Given the description of an element on the screen output the (x, y) to click on. 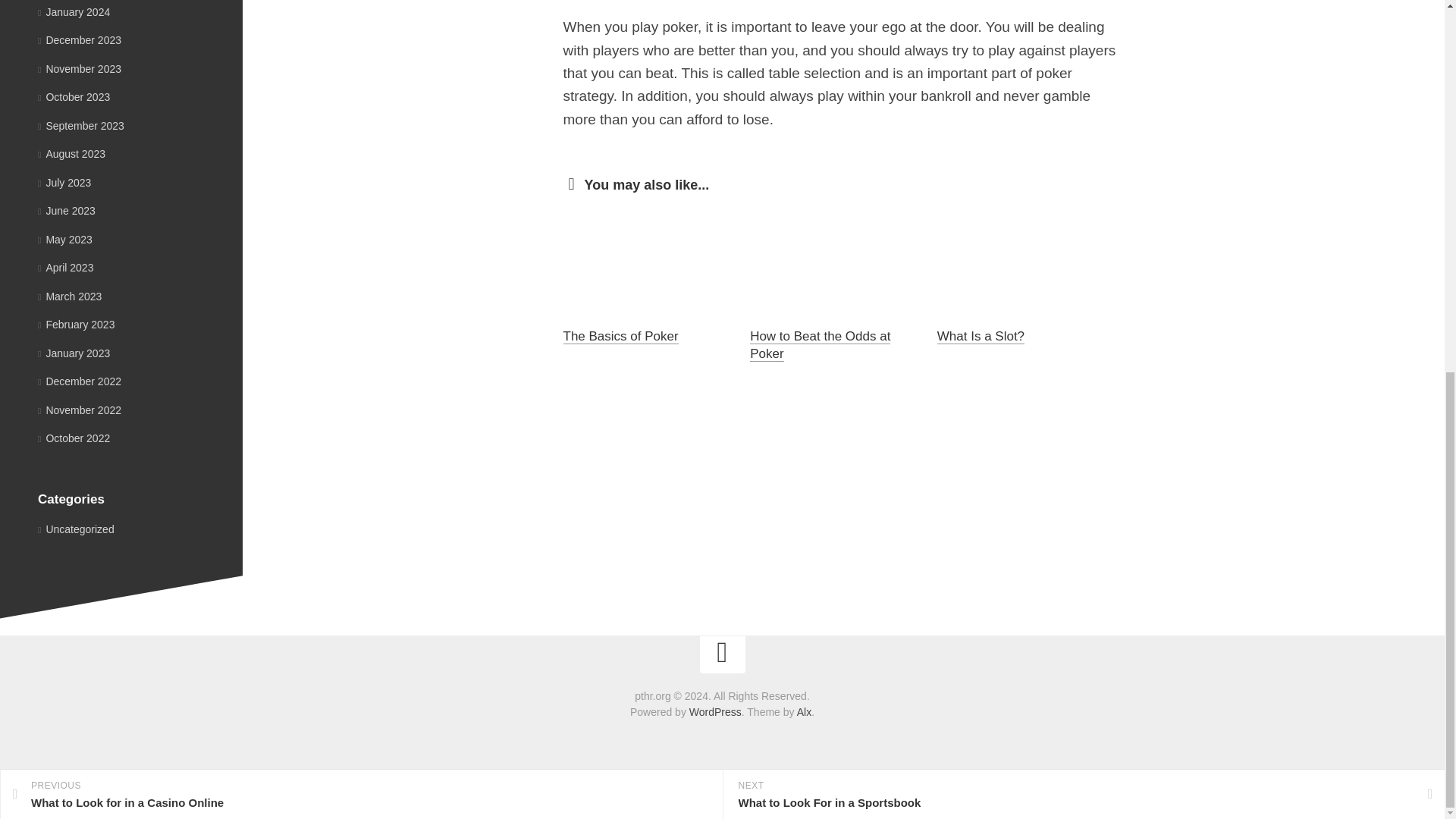
December 2022 (78, 381)
November 2022 (78, 409)
May 2023 (65, 239)
What Is a Slot? (981, 336)
The Basics of Poker (620, 336)
February 2023 (76, 324)
April 2023 (65, 267)
January 2023 (73, 353)
November 2023 (78, 68)
August 2023 (70, 153)
